Given the description of an element on the screen output the (x, y) to click on. 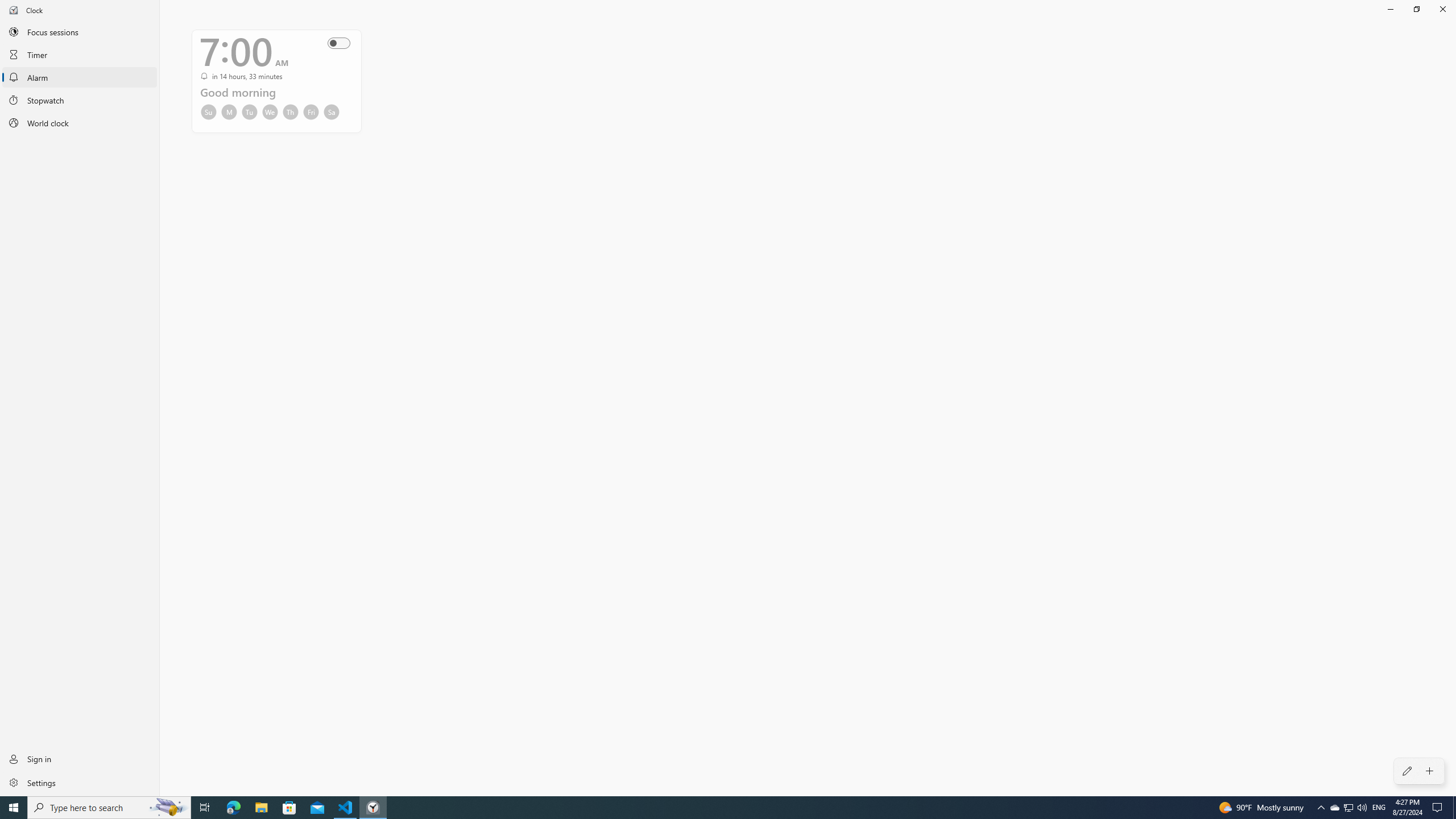
Sign in (79, 758)
Clock - 1 running window (373, 807)
World clock (79, 122)
Running applications (706, 807)
Timer (79, 54)
Focus sessions (79, 31)
Close Clock (1442, 9)
